Given the description of an element on the screen output the (x, y) to click on. 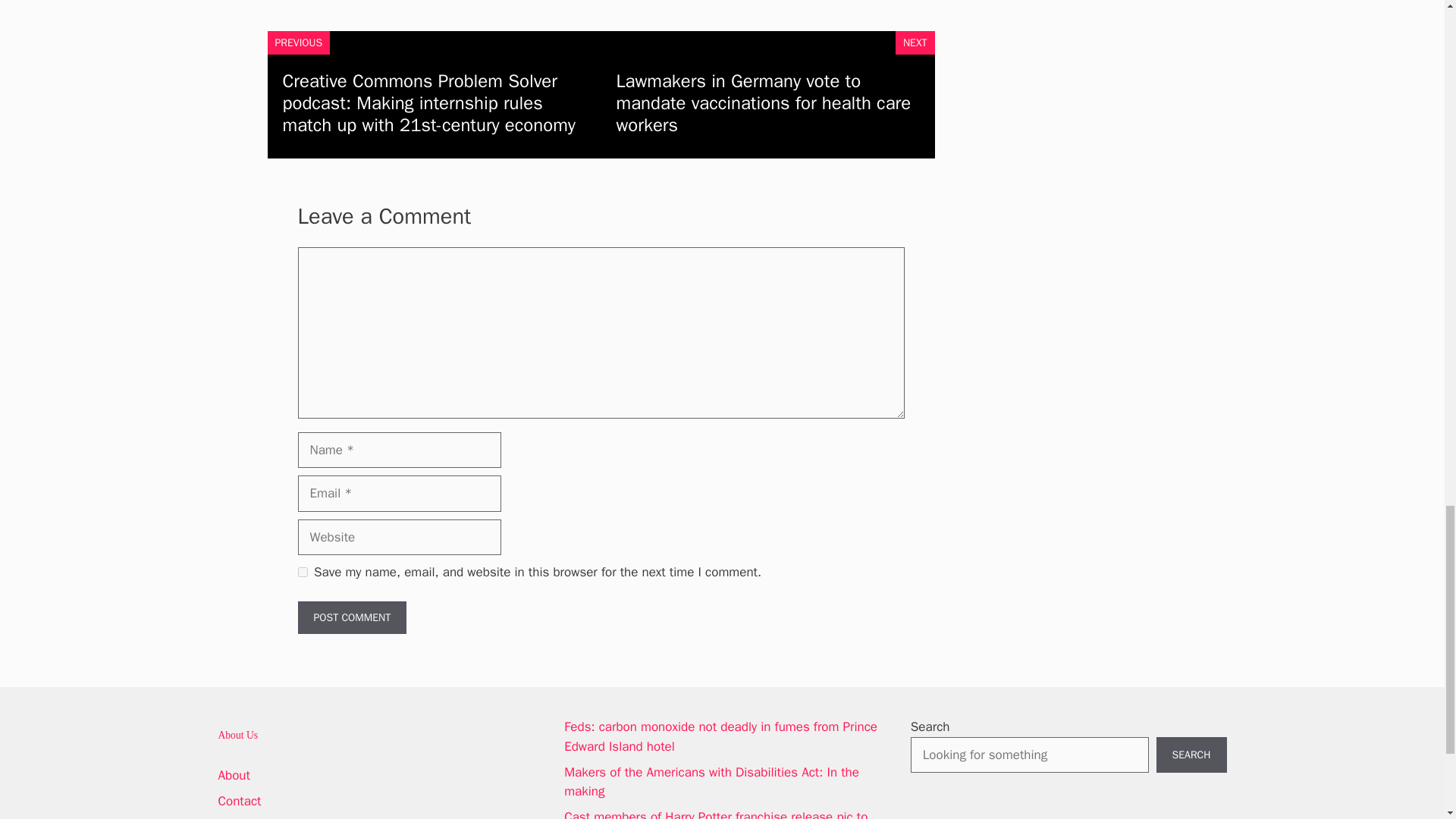
Post Comment (351, 617)
yes (302, 572)
Post Comment (351, 617)
About (234, 774)
Contact (240, 801)
